Given the description of an element on the screen output the (x, y) to click on. 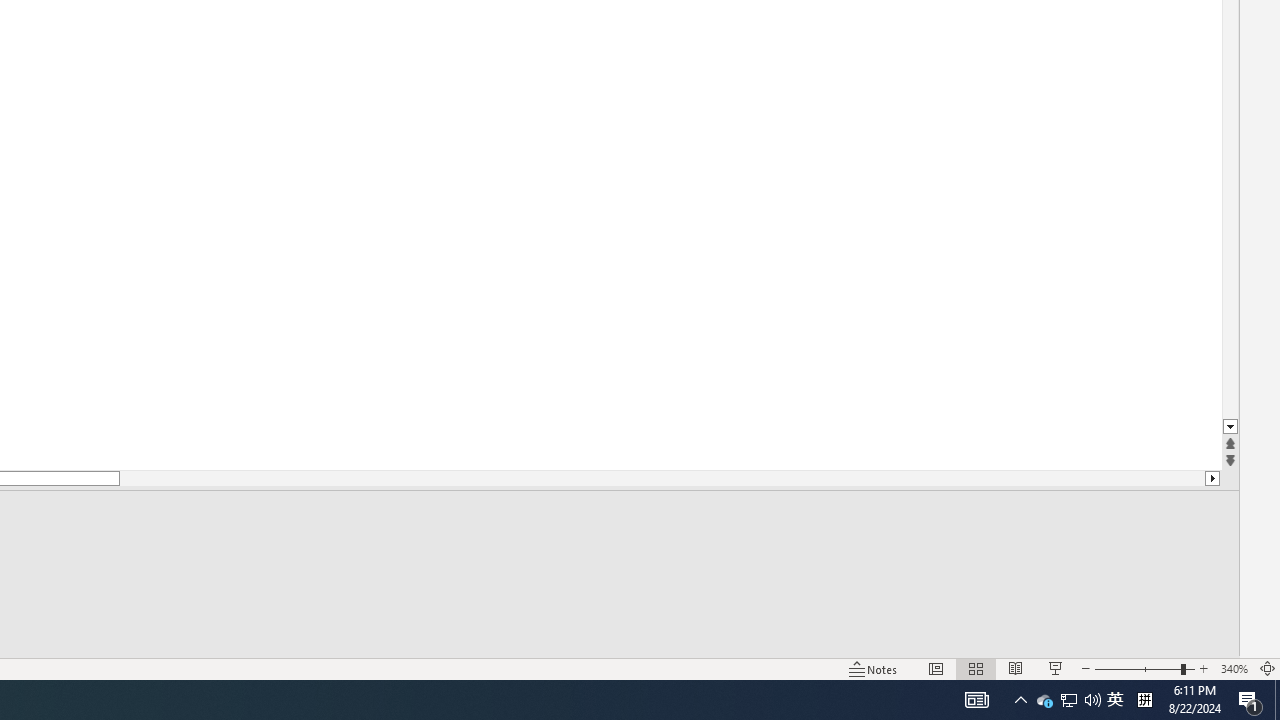
Zoom 340% (1234, 668)
